Given the description of an element on the screen output the (x, y) to click on. 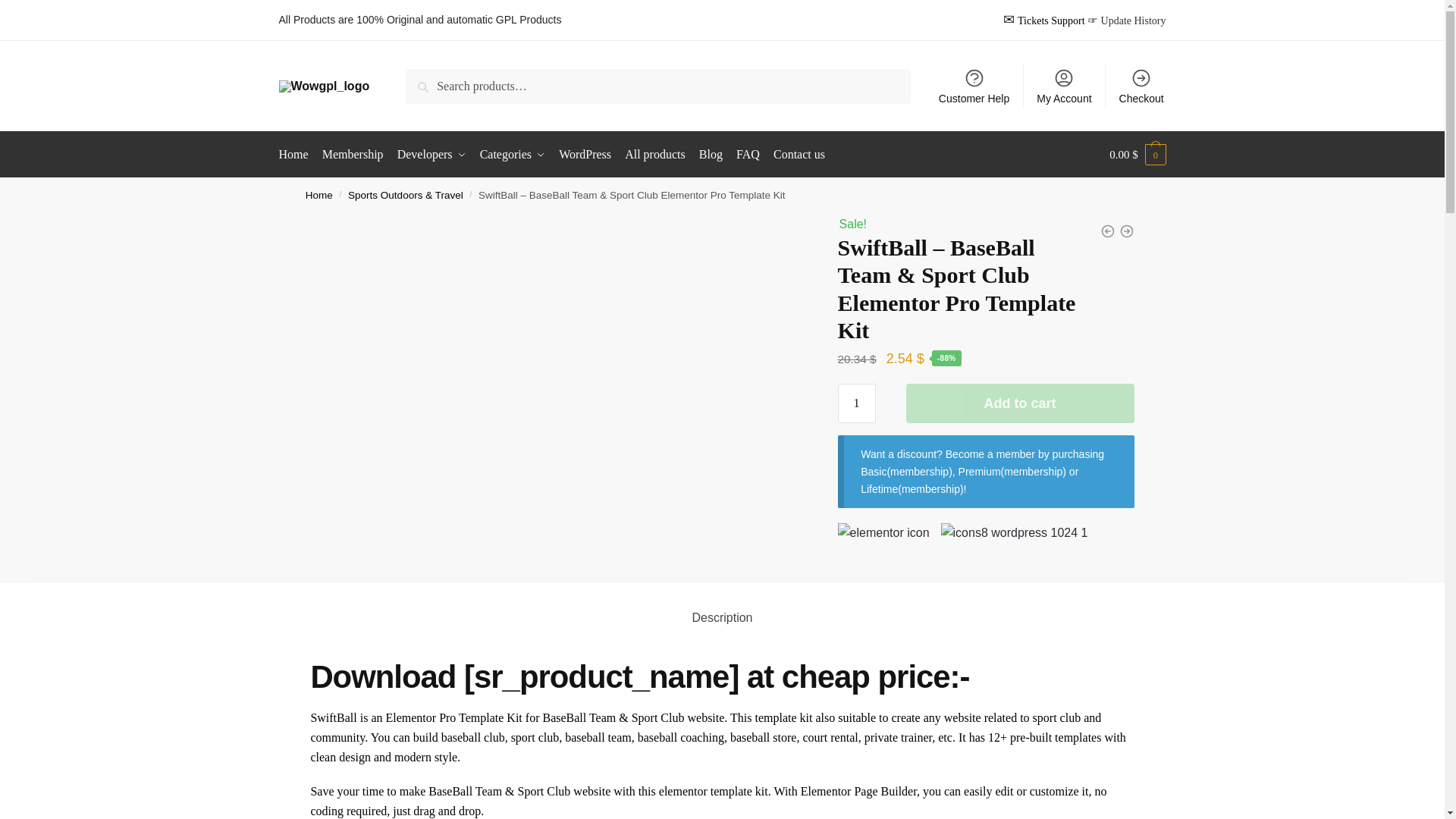
Update History (1133, 20)
Search (427, 79)
1 (857, 403)
My Account (1063, 85)
Developers (430, 154)
Tickets Support (1050, 20)
View your shopping cart (1137, 154)
Customer Help (974, 85)
Checkout (1141, 85)
Membership (352, 154)
